Given the description of an element on the screen output the (x, y) to click on. 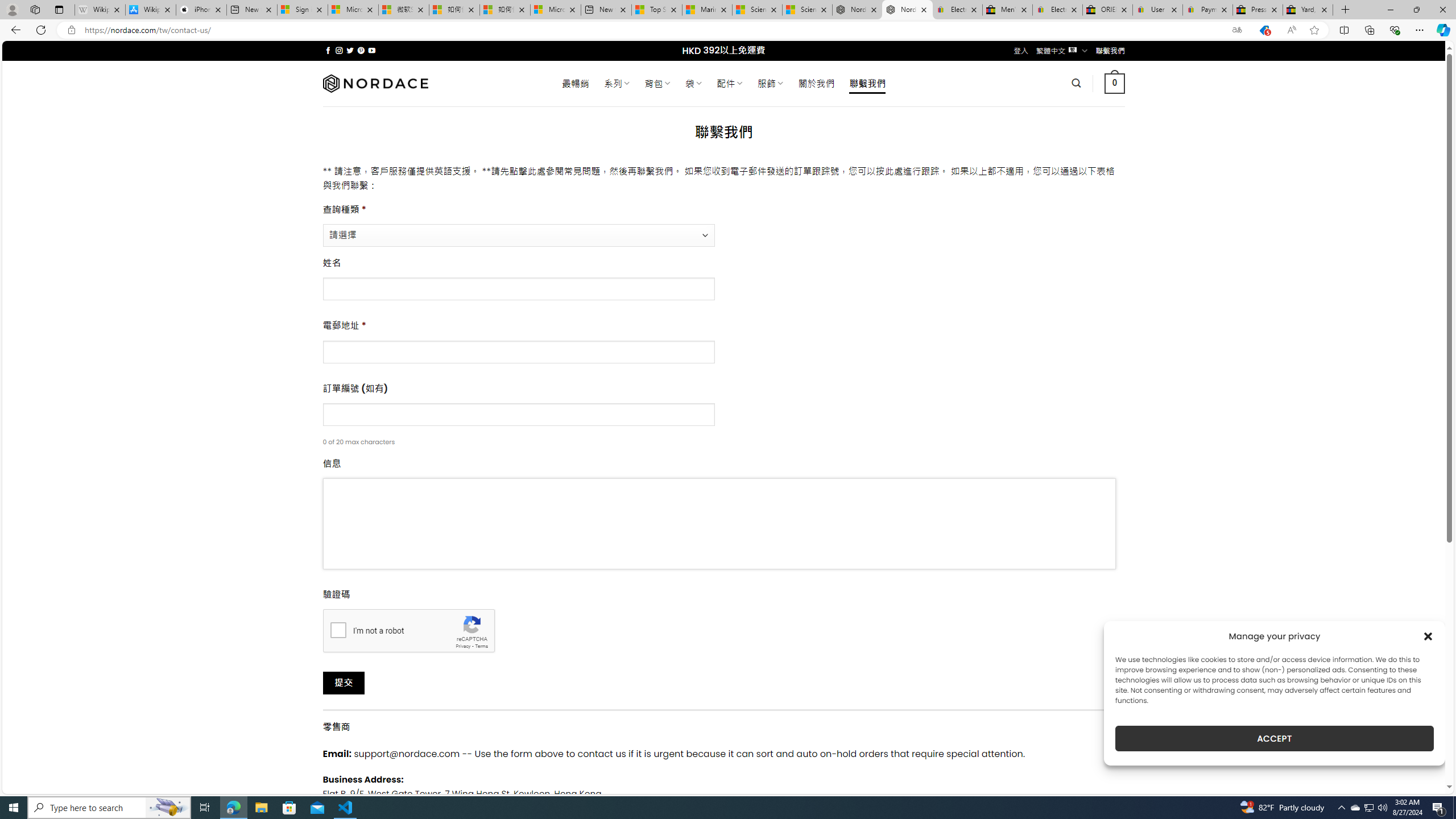
 0  (1115, 83)
Follow on Facebook (327, 50)
Follow on YouTube (371, 50)
User Privacy Notice | eBay (1158, 9)
Microsoft account | Account Checkup (555, 9)
